Given the description of an element on the screen output the (x, y) to click on. 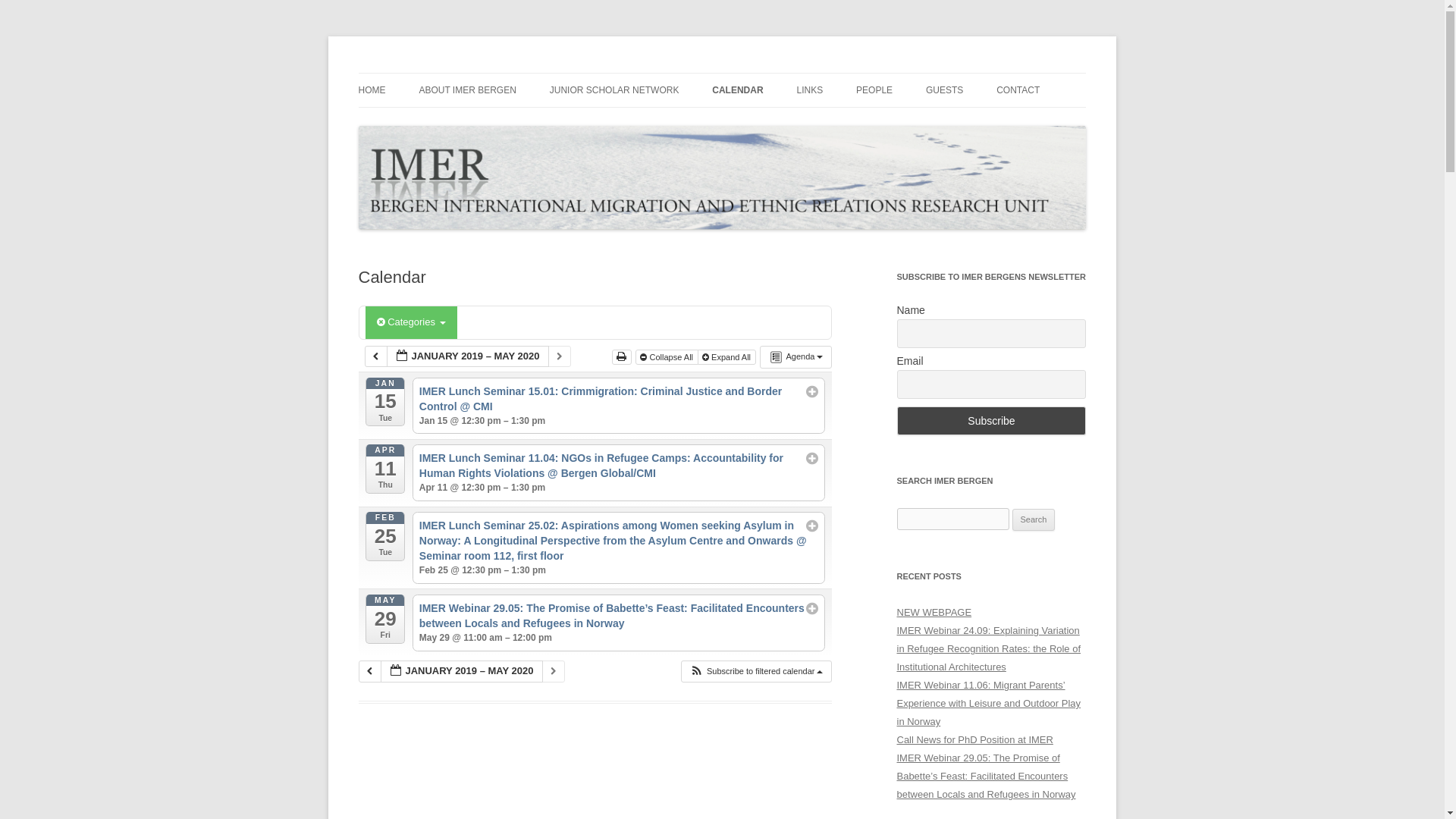
PEOPLE (874, 90)
Choose a date using calendar (467, 356)
ABOUT IMER BERGEN (467, 90)
Search (1033, 519)
Choose a date using calendar (461, 671)
HOME (371, 90)
LINKS (809, 90)
Categories (411, 322)
GUESTS (944, 90)
IMER Bergen, International Migration and Ethnic Relations (631, 72)
Subscribe (991, 420)
JUNIOR SCHOLAR NETWORK (614, 90)
CONTACT (1017, 90)
CALENDAR (736, 90)
Clear category filter (381, 321)
